Given the description of an element on the screen output the (x, y) to click on. 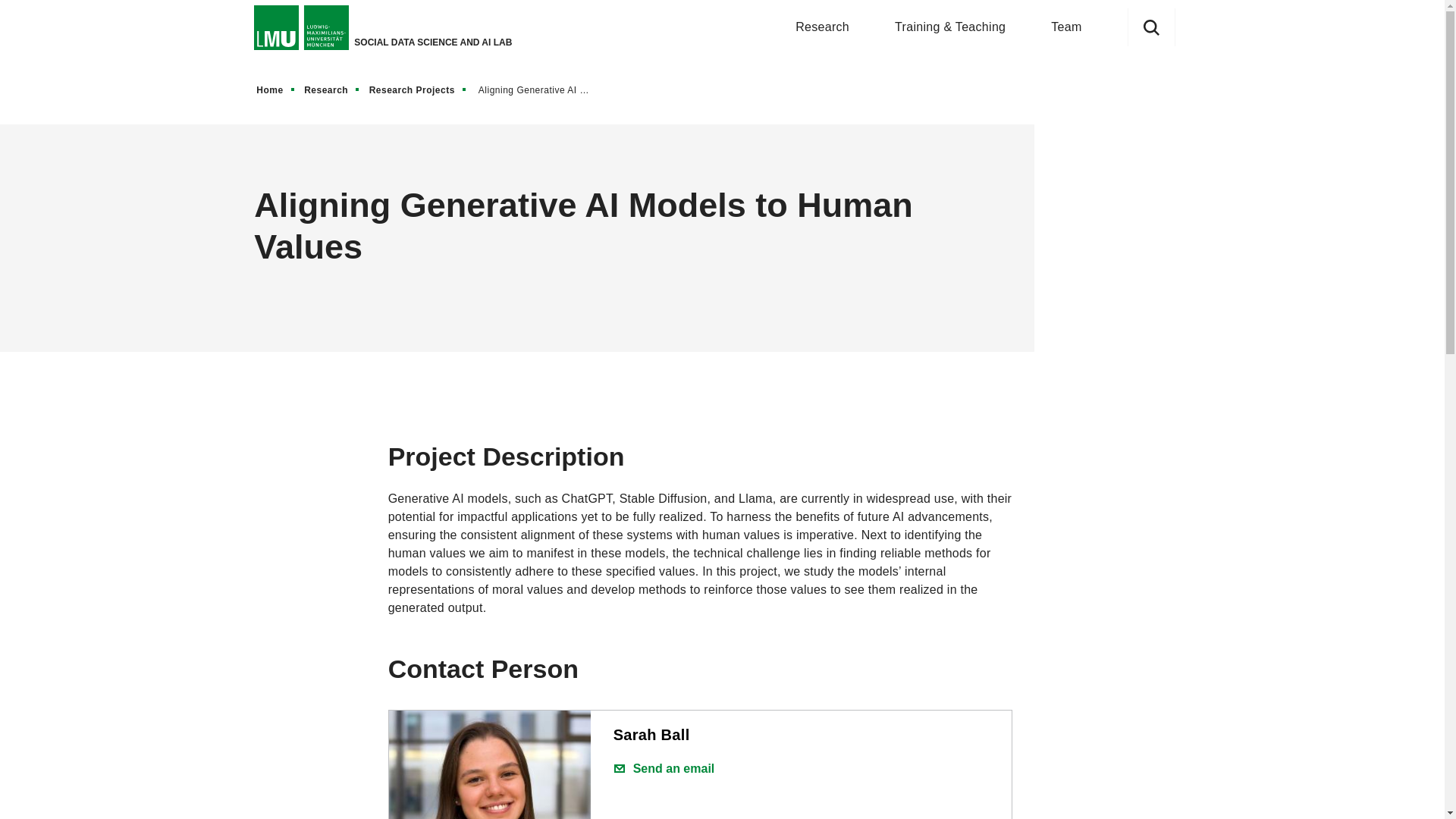
Send an email (663, 768)
Home (276, 90)
Home (276, 90)
Research Projects (418, 90)
You are here:Aligning Generative AI Models to Human Values (542, 90)
Research (332, 90)
Research (821, 26)
Research (332, 90)
Home (275, 90)
Research (331, 90)
Team (1066, 26)
Research Projects (418, 90)
Research Projects (418, 90)
